Given the description of an element on the screen output the (x, y) to click on. 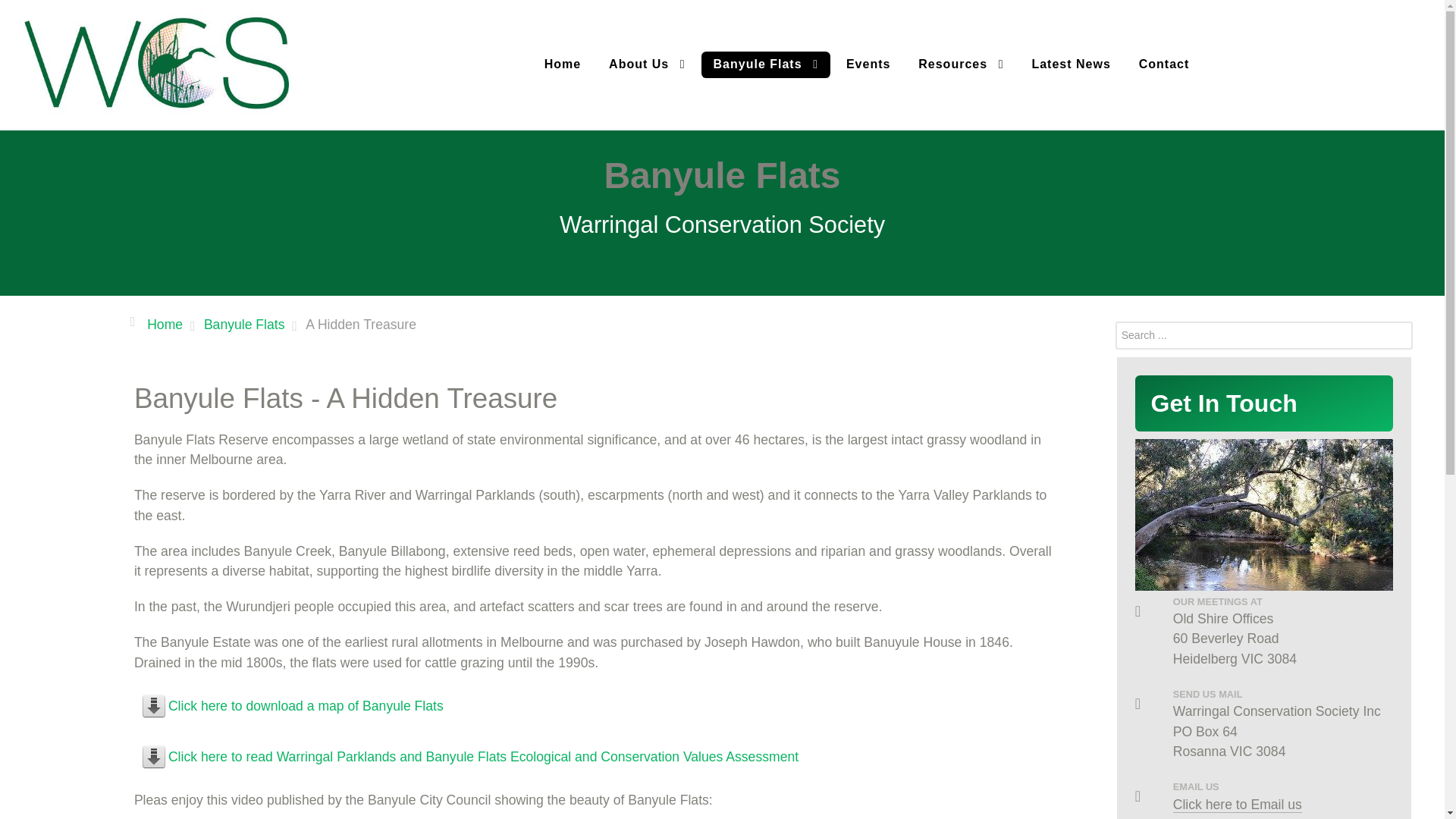
Banyule Flats (765, 64)
Resources (959, 64)
Latest News (1070, 64)
Click here to download a map of Banyule Flats (306, 705)
Contact (1164, 64)
Supra (156, 62)
Banyule Flats (244, 324)
Home (165, 324)
About Us (646, 64)
Home (562, 64)
Events (868, 64)
Click here to Email us (1237, 804)
